Given the description of an element on the screen output the (x, y) to click on. 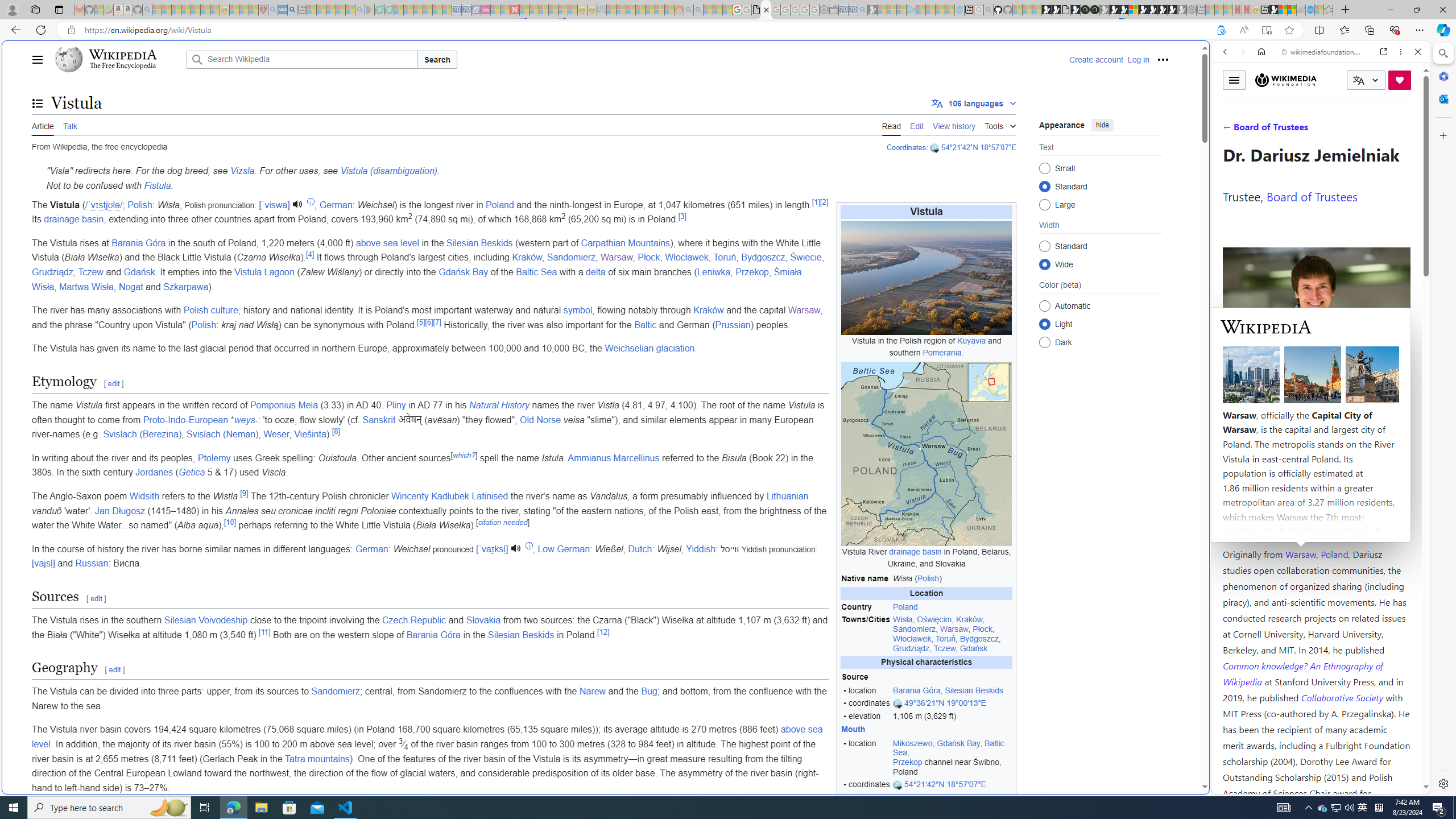
Navy Quest (1300, 9)
Proto-Indo-European (185, 419)
Bug (649, 691)
wikimediafoundation.org (1323, 51)
list of asthma inhalers uk - Search - Sleeping (272, 9)
Silesian Voivodeship (205, 620)
Vistula Lagoon (264, 271)
Play Cave FRVR in your browser | Games from Microsoft Start (1114, 9)
Coordinates (906, 146)
